Given the description of an element on the screen output the (x, y) to click on. 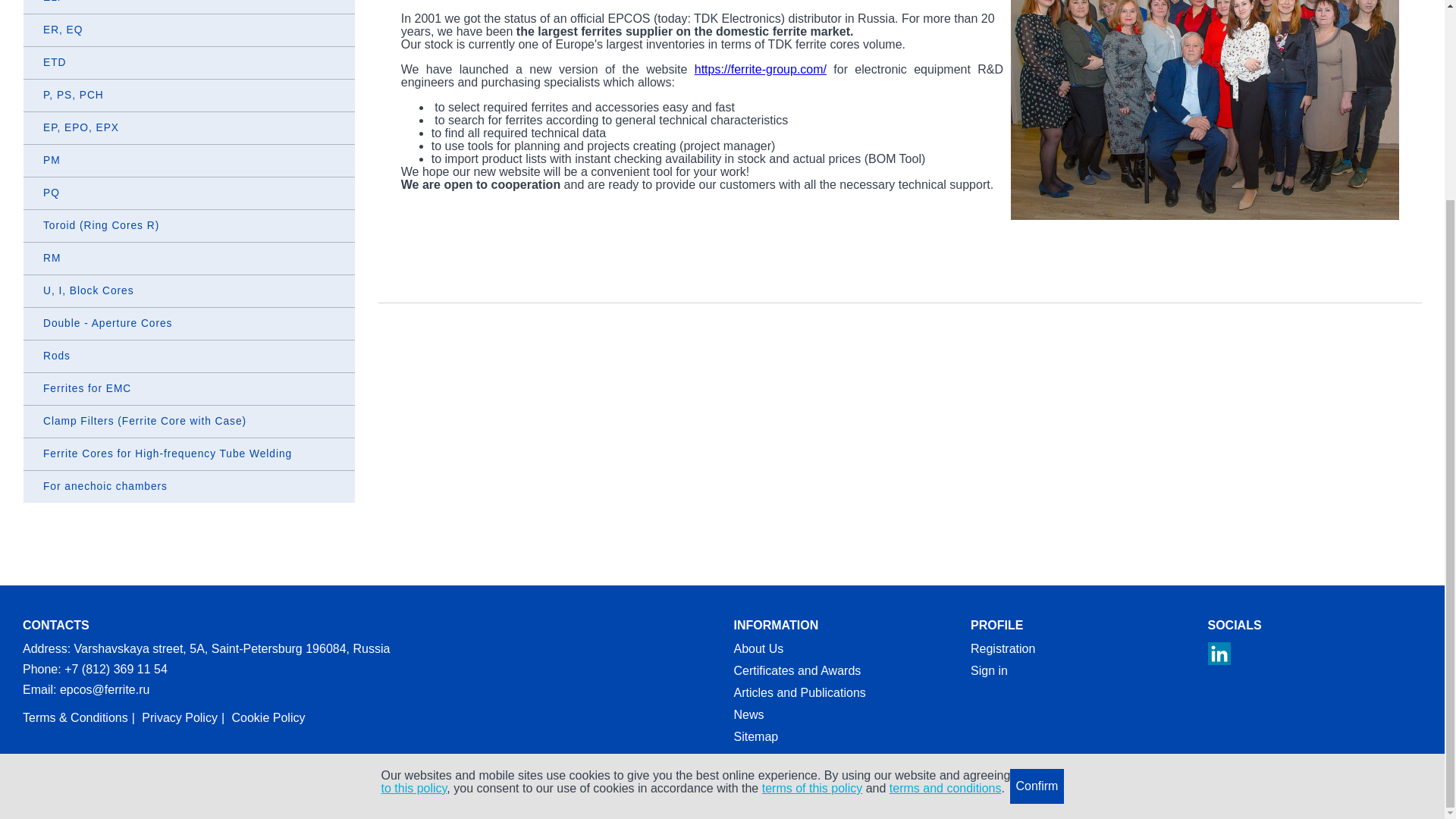
EP, EPO, EPX (189, 128)
ETD (189, 62)
ER, EQ (189, 29)
terms of this policy (811, 533)
Rods (189, 356)
U, I, Block Cores (189, 291)
to this policy (413, 533)
P, PS, PCH (189, 95)
Ferrite Cores for High-frequency Tube Welding (189, 454)
Double - Aperture Cores (189, 323)
For anechoic chambers (189, 486)
ELP (189, 6)
terms and conditions (945, 533)
RM (189, 258)
Ferrites for EMC (189, 388)
